Given the description of an element on the screen output the (x, y) to click on. 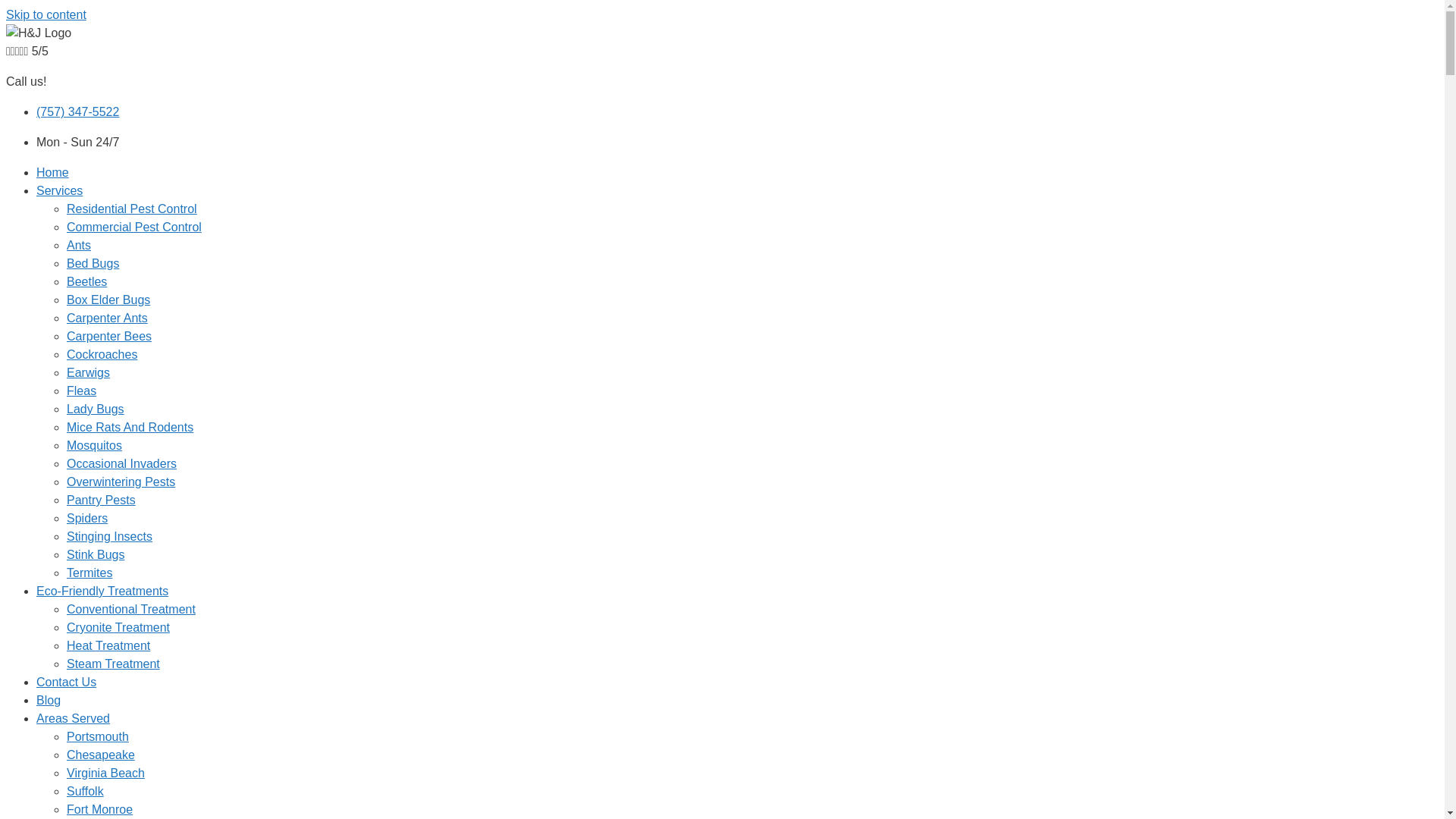
Occasional Invaders Element type: text (121, 463)
Portsmouth Element type: text (97, 736)
Virginia Beach Element type: text (105, 772)
Mice Rats And Rodents Element type: text (129, 426)
Fleas Element type: text (81, 390)
Heat Treatment Element type: text (108, 645)
Eco-Friendly Treatments Element type: text (102, 590)
Box Elder Bugs Element type: text (108, 299)
Steam Treatment Element type: text (113, 663)
Mosquitos Element type: text (94, 445)
Beetles Element type: text (86, 281)
Ants Element type: text (78, 244)
Termites Element type: text (89, 572)
Suffolk Element type: text (84, 790)
Earwigs Element type: text (87, 372)
Lady Bugs Element type: text (95, 408)
Bed Bugs Element type: text (92, 263)
Overwintering Pests Element type: text (120, 481)
Pantry Pests Element type: text (100, 499)
Blog Element type: text (48, 699)
Skip to content Element type: text (46, 14)
Areas Served Element type: text (72, 718)
Carpenter Bees Element type: text (108, 335)
Carpenter Ants Element type: text (106, 317)
Conventional Treatment Element type: text (130, 608)
Stinging Insects Element type: text (109, 536)
Fort Monroe Element type: text (99, 809)
Residential Pest Control Element type: text (131, 208)
Chesapeake Element type: text (100, 754)
Contact Us Element type: text (66, 681)
Home Element type: text (52, 172)
Stink Bugs Element type: text (95, 554)
Cryonite Treatment Element type: text (117, 627)
Cockroaches Element type: text (101, 354)
Spiders Element type: text (86, 517)
(757) 347-5522 Element type: text (77, 111)
Commercial Pest Control Element type: text (133, 226)
Services Element type: text (59, 190)
